Given the description of an element on the screen output the (x, y) to click on. 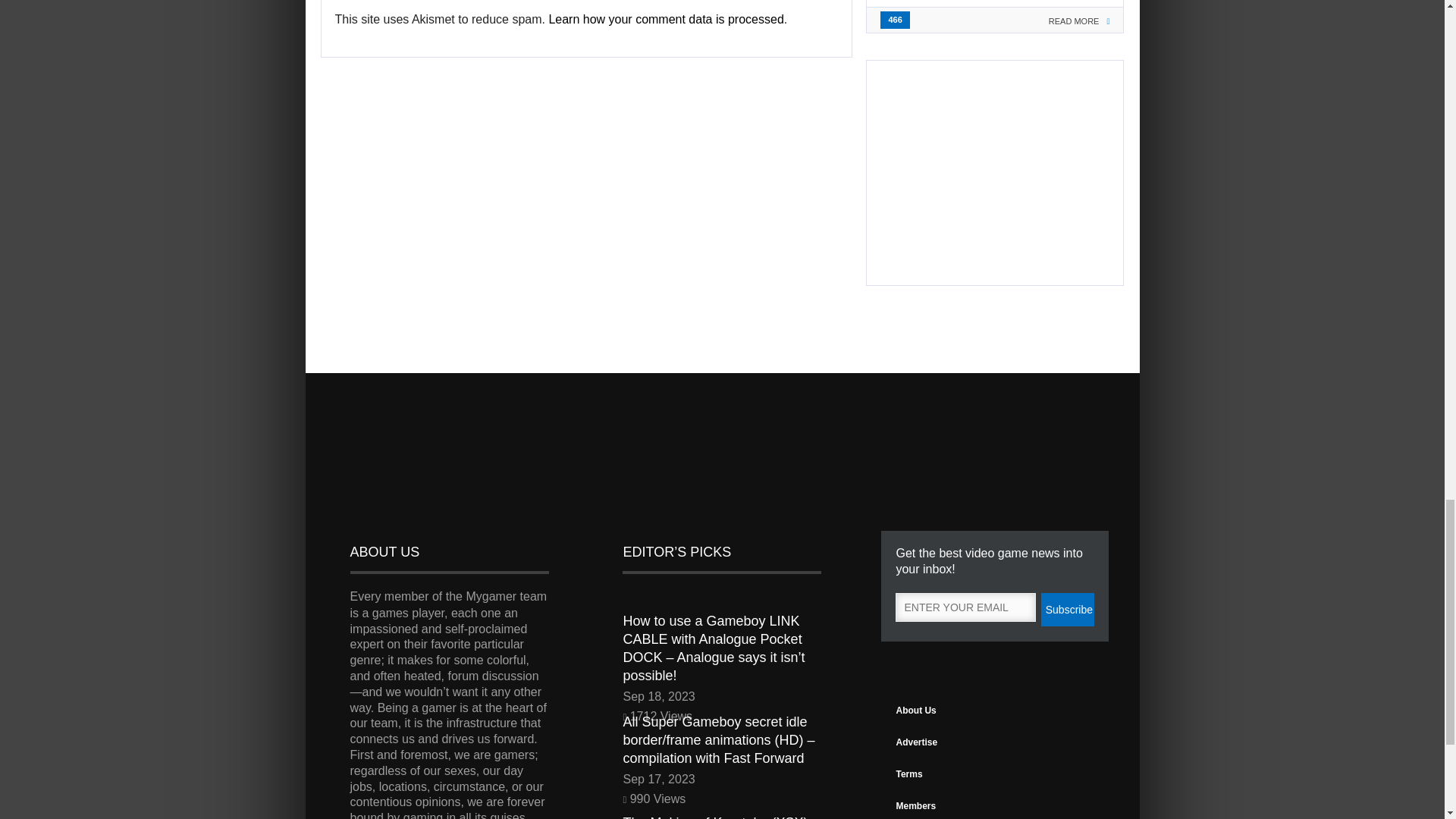
Sep 18, 2023 (722, 697)
Subscribe (1067, 609)
Sep 17, 2023 (722, 779)
